Given the description of an element on the screen output the (x, y) to click on. 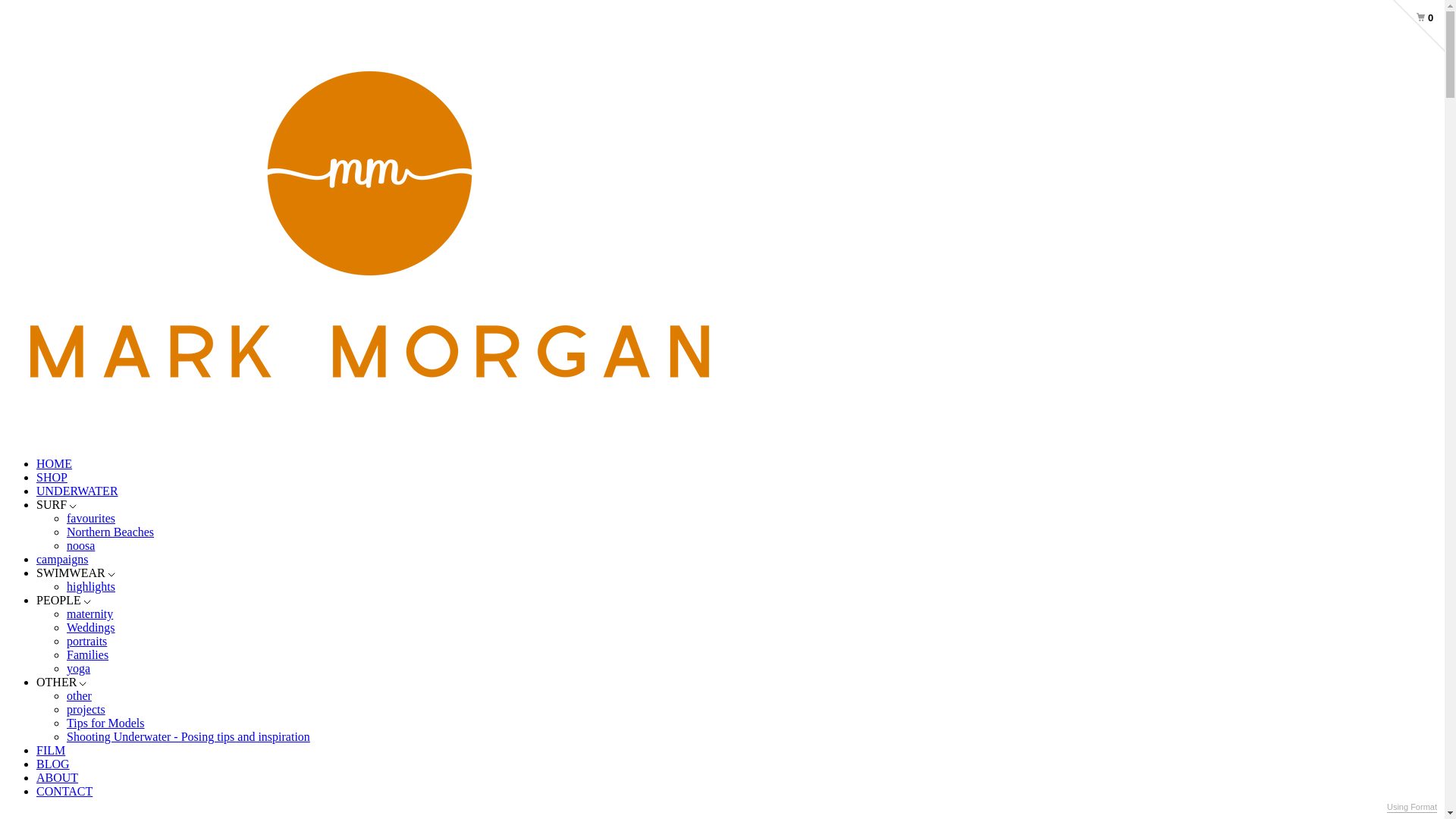
Northern Beaches Element type: text (109, 531)
Using Format Element type: text (1411, 807)
maternity Element type: text (89, 613)
HOME Element type: text (54, 463)
SHOP Element type: text (51, 476)
campaigns Element type: text (61, 558)
other Element type: text (78, 695)
SWIMWEAR Element type: text (75, 572)
portraits Element type: text (86, 640)
projects Element type: text (85, 708)
FILM Element type: text (50, 749)
highlights Element type: text (90, 586)
CONTACT Element type: text (64, 790)
SURF Element type: text (56, 504)
Shooting Underwater - Posing tips and inspiration Element type: text (188, 736)
favourites Element type: text (90, 517)
Weddings Element type: text (90, 627)
Tips for Models Element type: text (105, 722)
ABOUT Element type: text (57, 777)
BLOG Element type: text (52, 763)
PEOPLE Element type: text (63, 599)
UNDERWATER Element type: text (77, 490)
0 Element type: text (1412, 11)
Families Element type: text (87, 654)
yoga Element type: text (78, 668)
noosa Element type: text (80, 545)
OTHER Element type: text (61, 681)
